Given the description of an element on the screen output the (x, y) to click on. 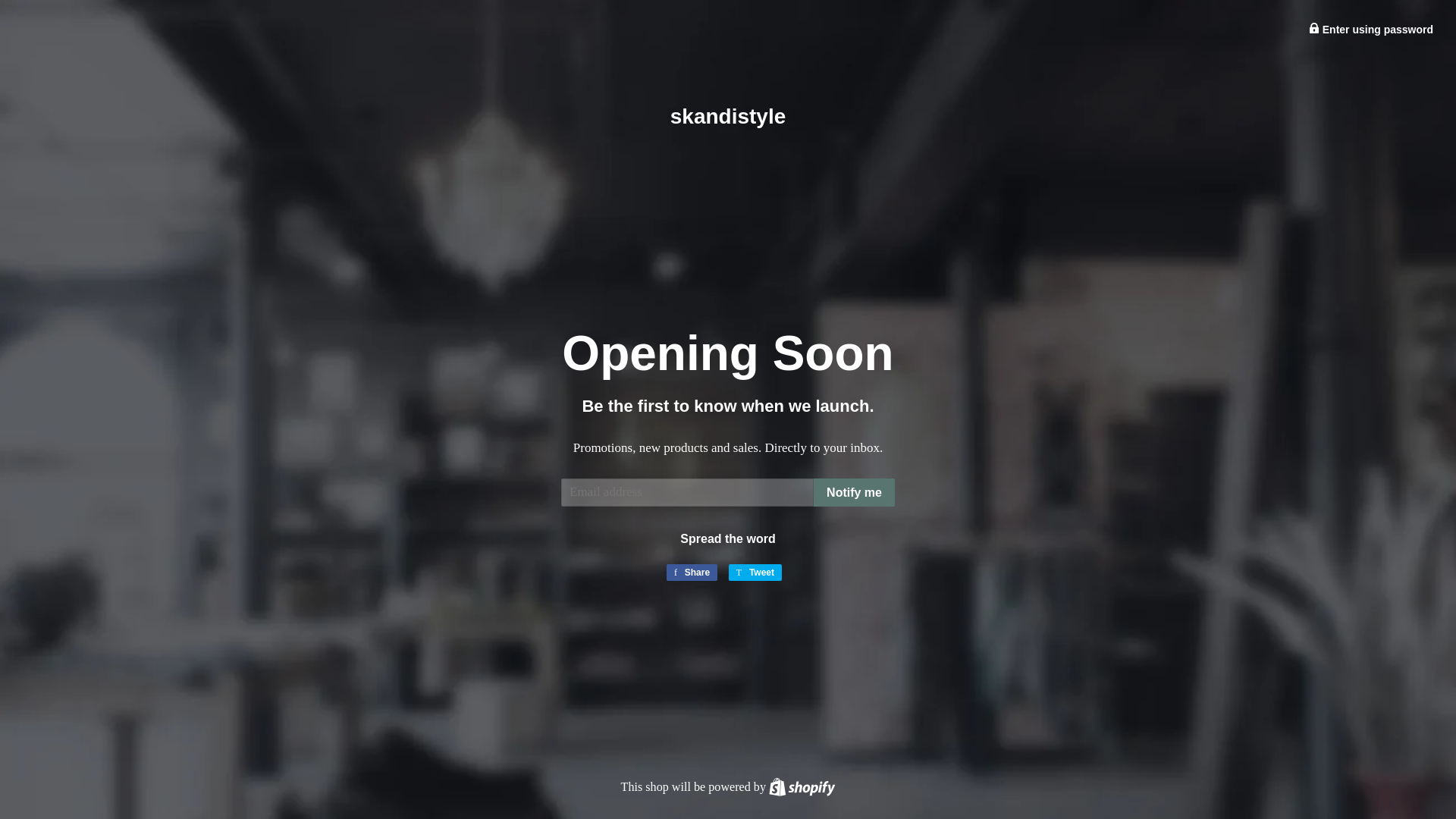
Lock icon Enter using password (691, 572)
Tweet on Twitter (1370, 29)
Notify me (755, 572)
Create your own online store with Shopify (854, 492)
Share on Facebook (801, 785)
Shopify logo (691, 572)
Lock icon (801, 786)
